Given the description of an element on the screen output the (x, y) to click on. 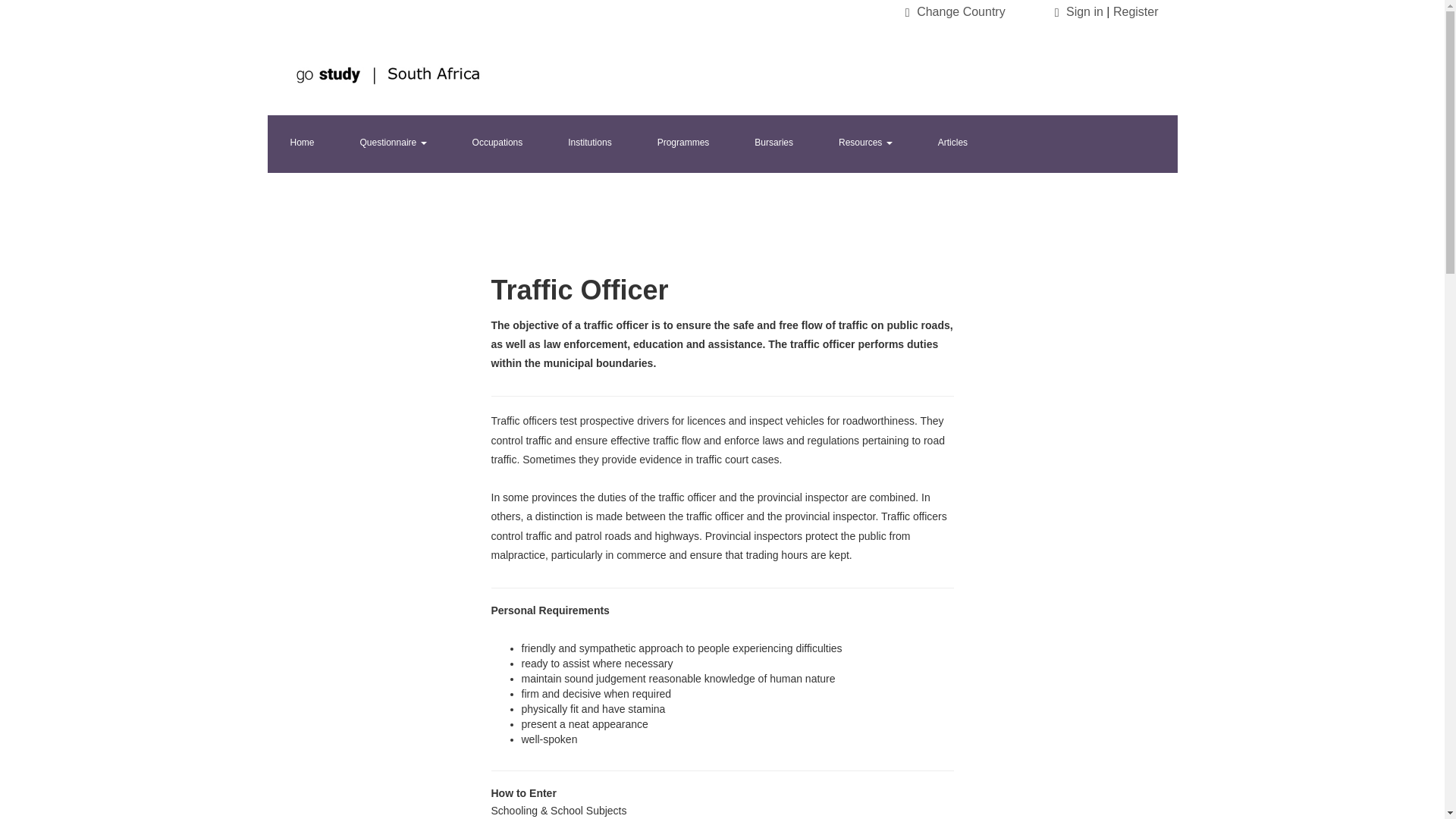
Occupations (497, 143)
Register (1135, 11)
Institutions (588, 143)
Change Country (961, 11)
Resources (865, 143)
Sign in (1084, 11)
Questionnaire (393, 143)
Articles (952, 143)
Home (301, 143)
Programmes (683, 143)
Bursaries (773, 143)
